Given the description of an element on the screen output the (x, y) to click on. 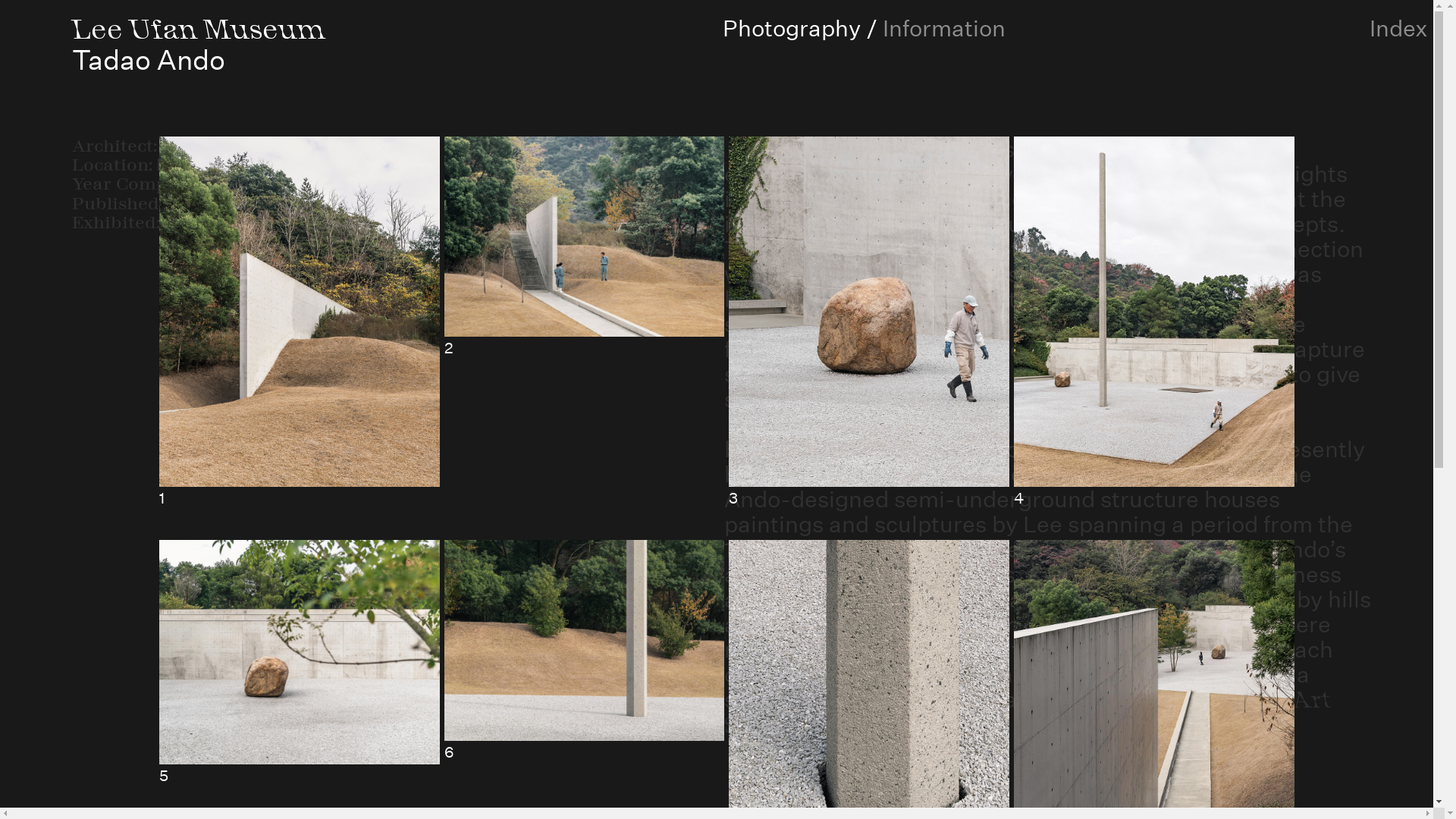
Information Element type: text (943, 28)
Benesse Art Site Element type: text (1027, 712)
Photography Element type: text (790, 28)
